Given the description of an element on the screen output the (x, y) to click on. 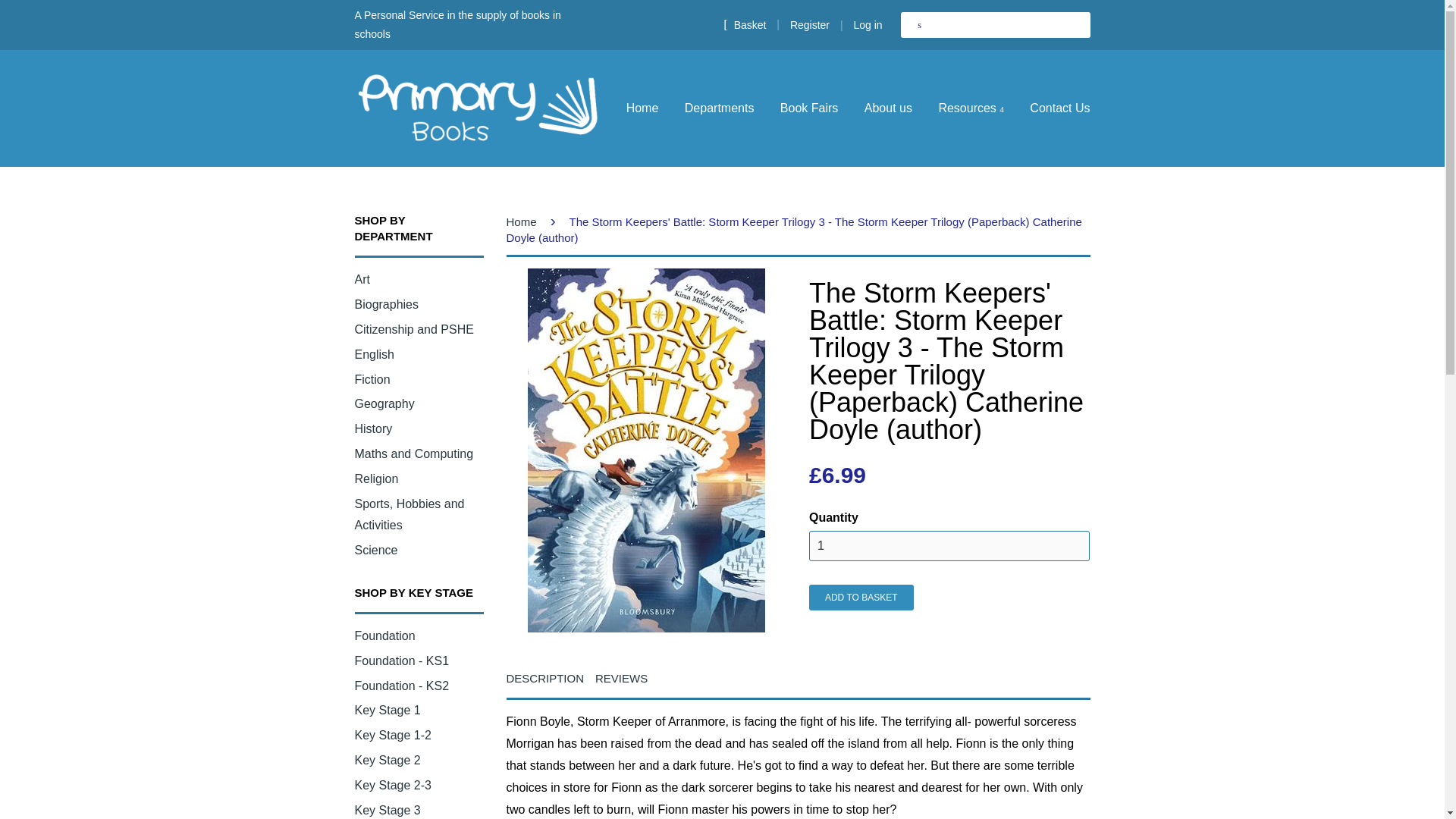
Citizenship and PSHE (414, 328)
Science (376, 549)
Book Fairs (808, 108)
Foundation - KS2 (402, 685)
Biographies (387, 304)
SEARCH (920, 24)
Back to the frontpage (523, 221)
Key Stage 3 (387, 809)
Key Stage 2-3 (392, 784)
Geography (384, 403)
Art (362, 278)
English (374, 354)
Departments (718, 108)
Foundation (384, 635)
Register (809, 24)
